Given the description of an element on the screen output the (x, y) to click on. 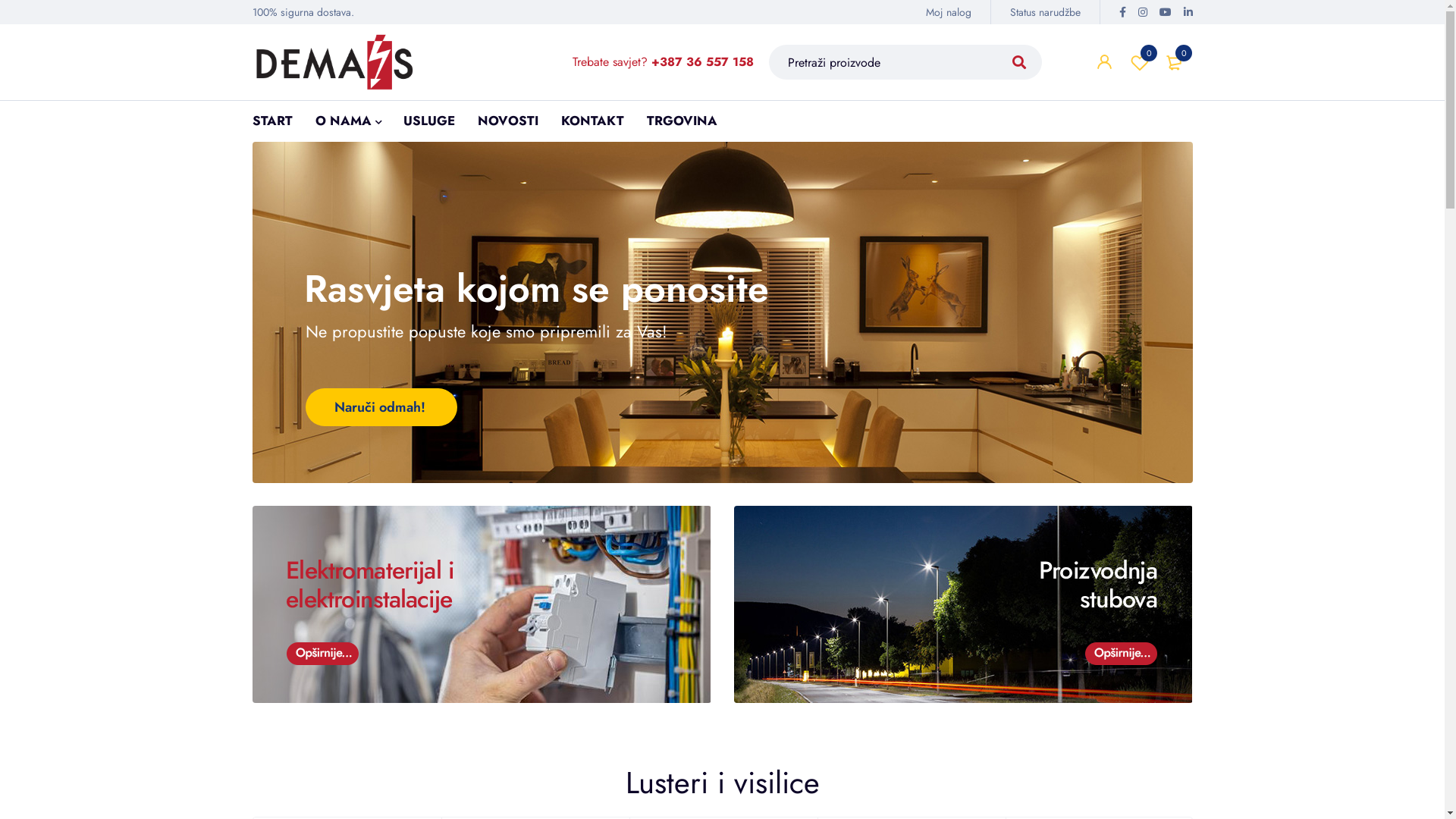
Wishlist
0 Element type: text (1139, 61)
KONTAKT Element type: text (592, 120)
Search Element type: text (1018, 61)
USLUGE Element type: text (429, 120)
0 Element type: text (1174, 61)
Moj nalog Element type: text (948, 11)
O NAMA Element type: text (343, 120)
Elektroinstalacije Element type: hover (481, 603)
DEMA&S Element type: hover (333, 62)
TRGOVINA Element type: text (681, 120)
NOVOSTI Element type: text (507, 120)
START Element type: text (271, 120)
